Given the description of an element on the screen output the (x, y) to click on. 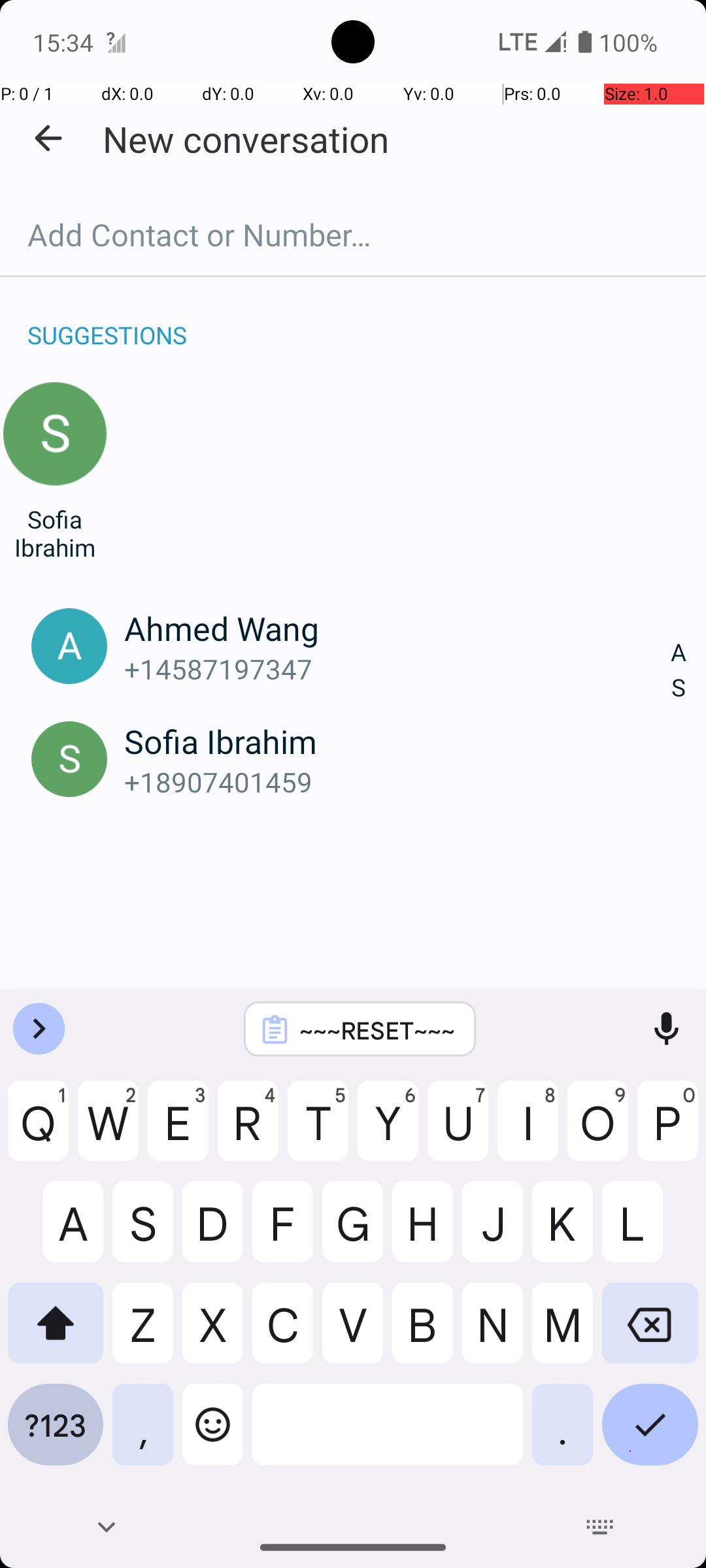
SUGGESTIONS Element type: android.widget.TextView (106, 321)
A
S Element type: android.widget.TextView (678, 670)
Sofia Ibrahim Element type: android.widget.TextView (54, 532)
Ahmed Wang Element type: android.widget.TextView (397, 627)
+14587197347 Element type: android.widget.TextView (397, 668)
+18907401459 Element type: android.widget.TextView (397, 781)
